Given the description of an element on the screen output the (x, y) to click on. 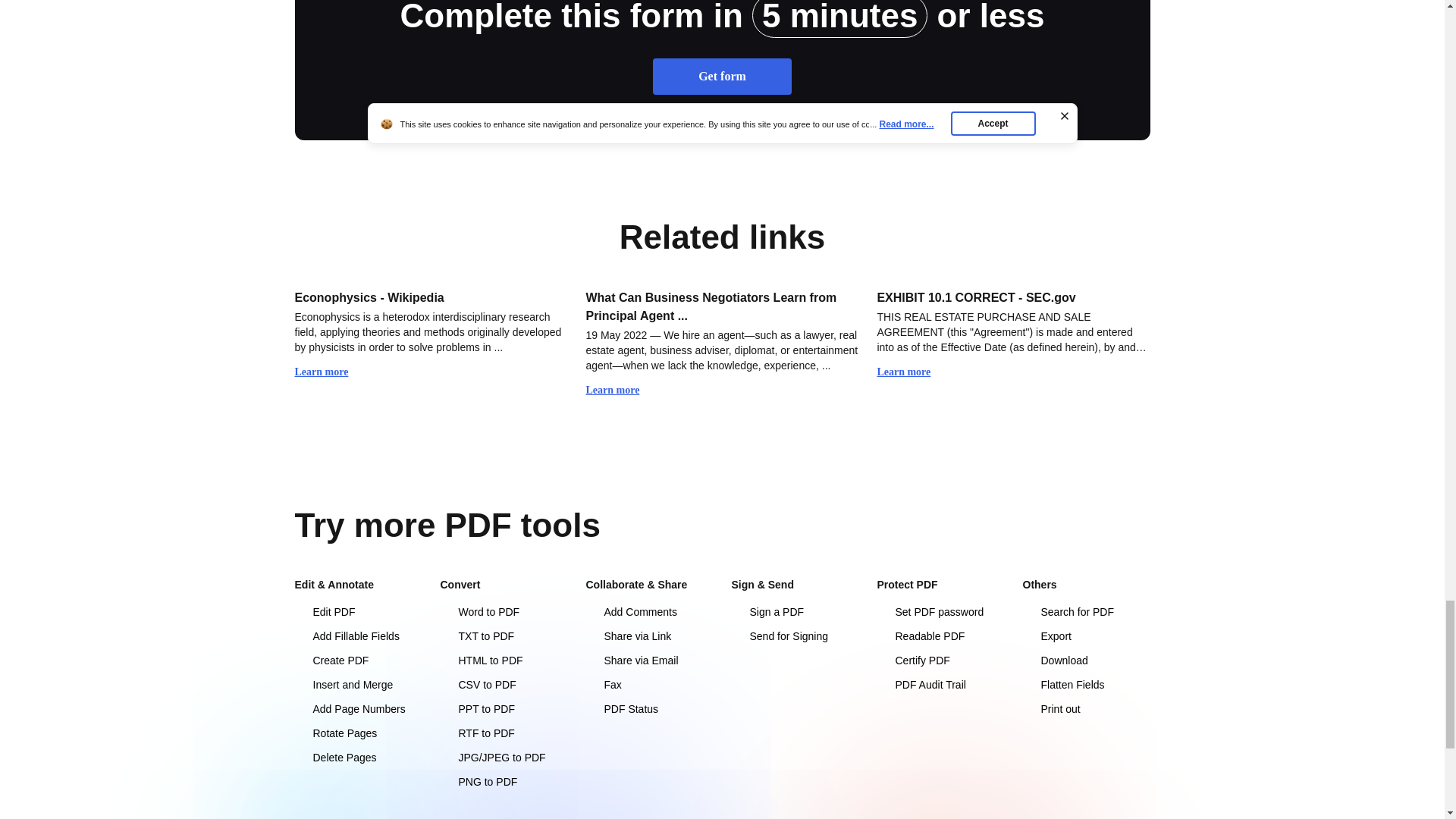
Edit PDF (358, 611)
Learn more (327, 372)
Insert and Merge (358, 684)
Create PDF (358, 660)
Delete Pages (358, 757)
Add Fillable Fields (358, 635)
Get form (722, 76)
Add Page Numbers (358, 708)
Learn more (618, 390)
Rotate Pages (358, 733)
